Given the description of an element on the screen output the (x, y) to click on. 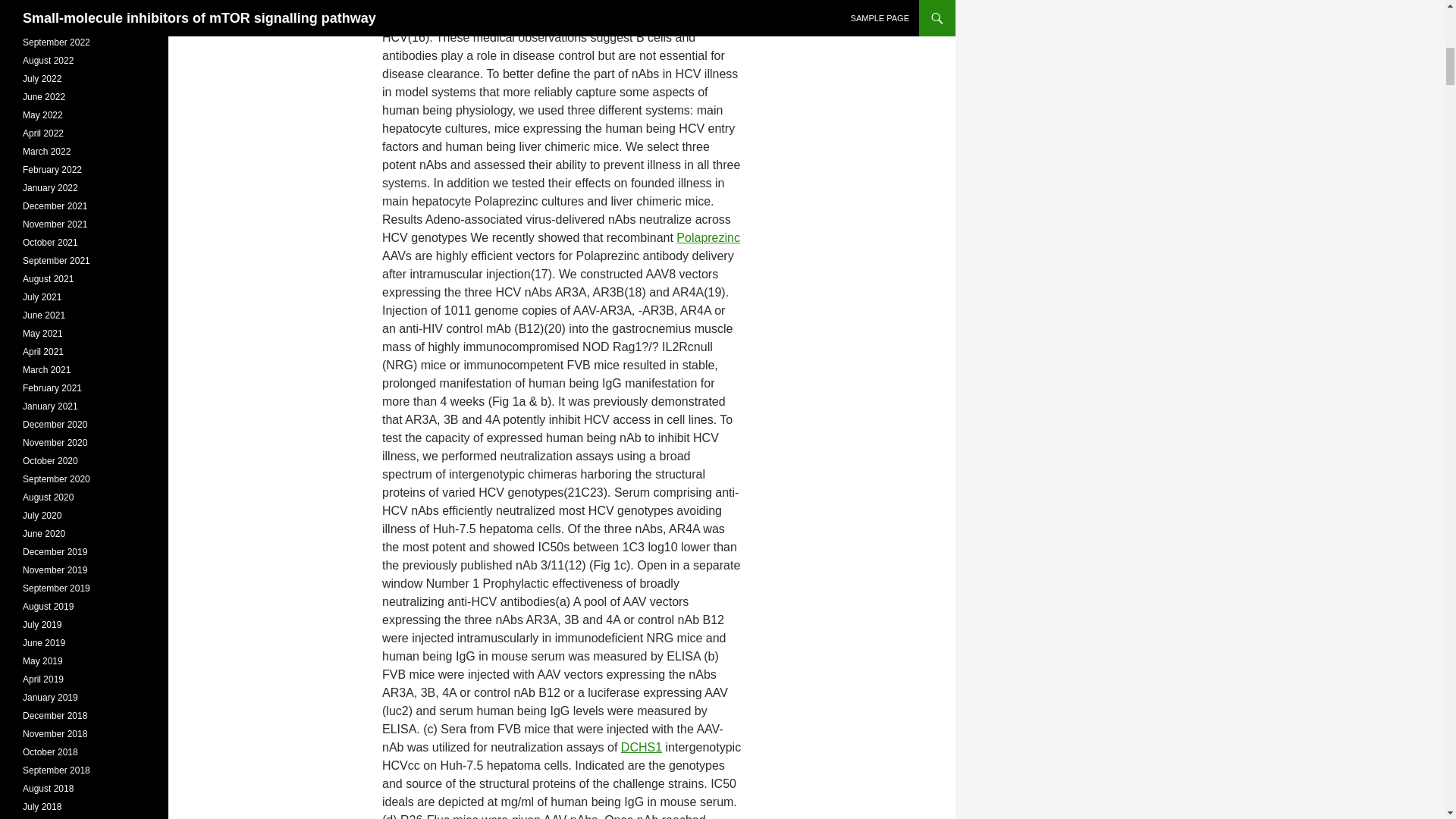
Polaprezinc (708, 237)
DCHS1 (641, 747)
